Given the description of an element on the screen output the (x, y) to click on. 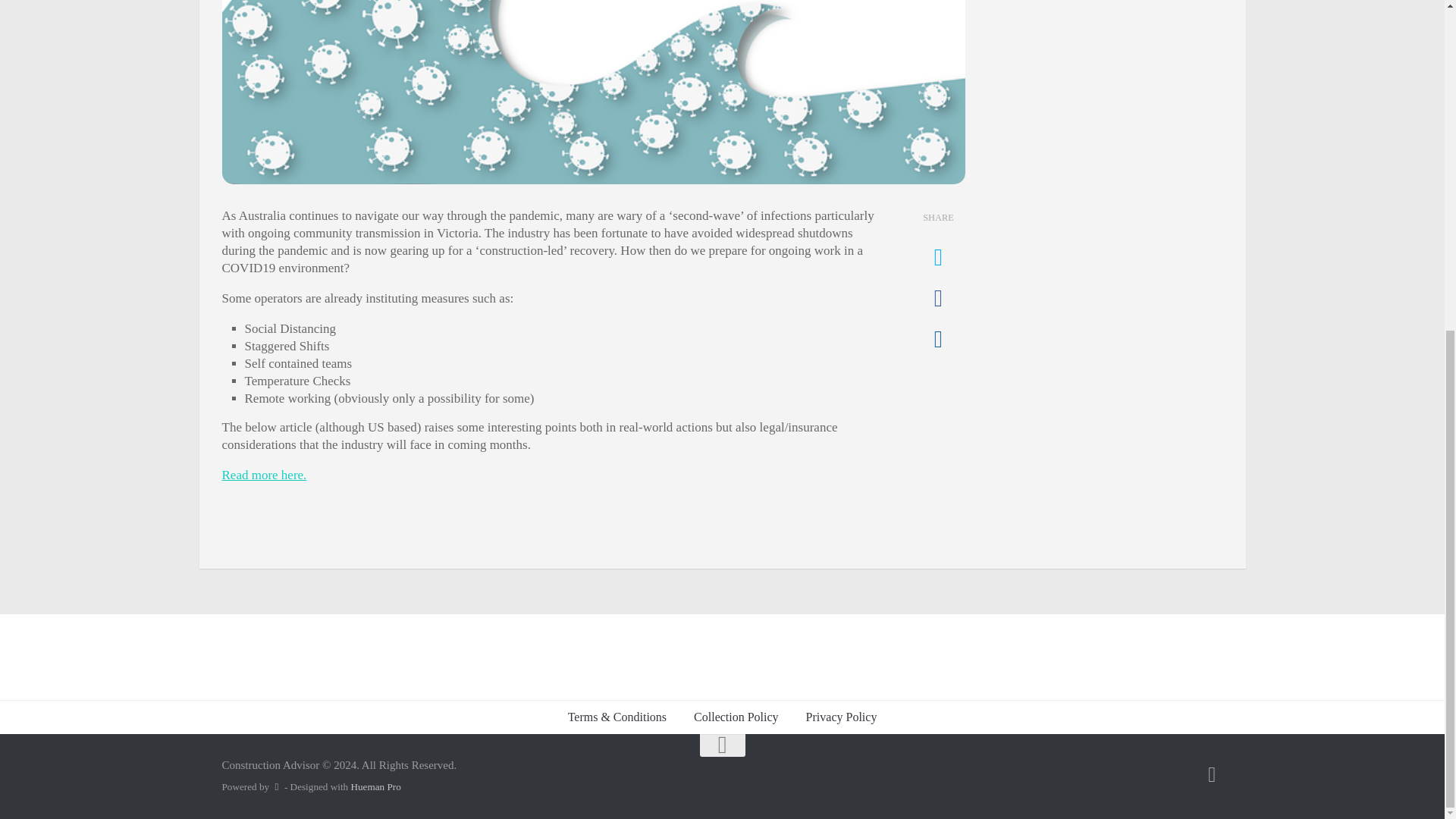
Follow us on Linkedin (1212, 774)
Read more here. (263, 474)
Collection Policy (735, 717)
Hueman Pro (375, 786)
Privacy Policy (841, 717)
Hueman Pro (375, 786)
Powered by WordPress (275, 786)
